Given the description of an element on the screen output the (x, y) to click on. 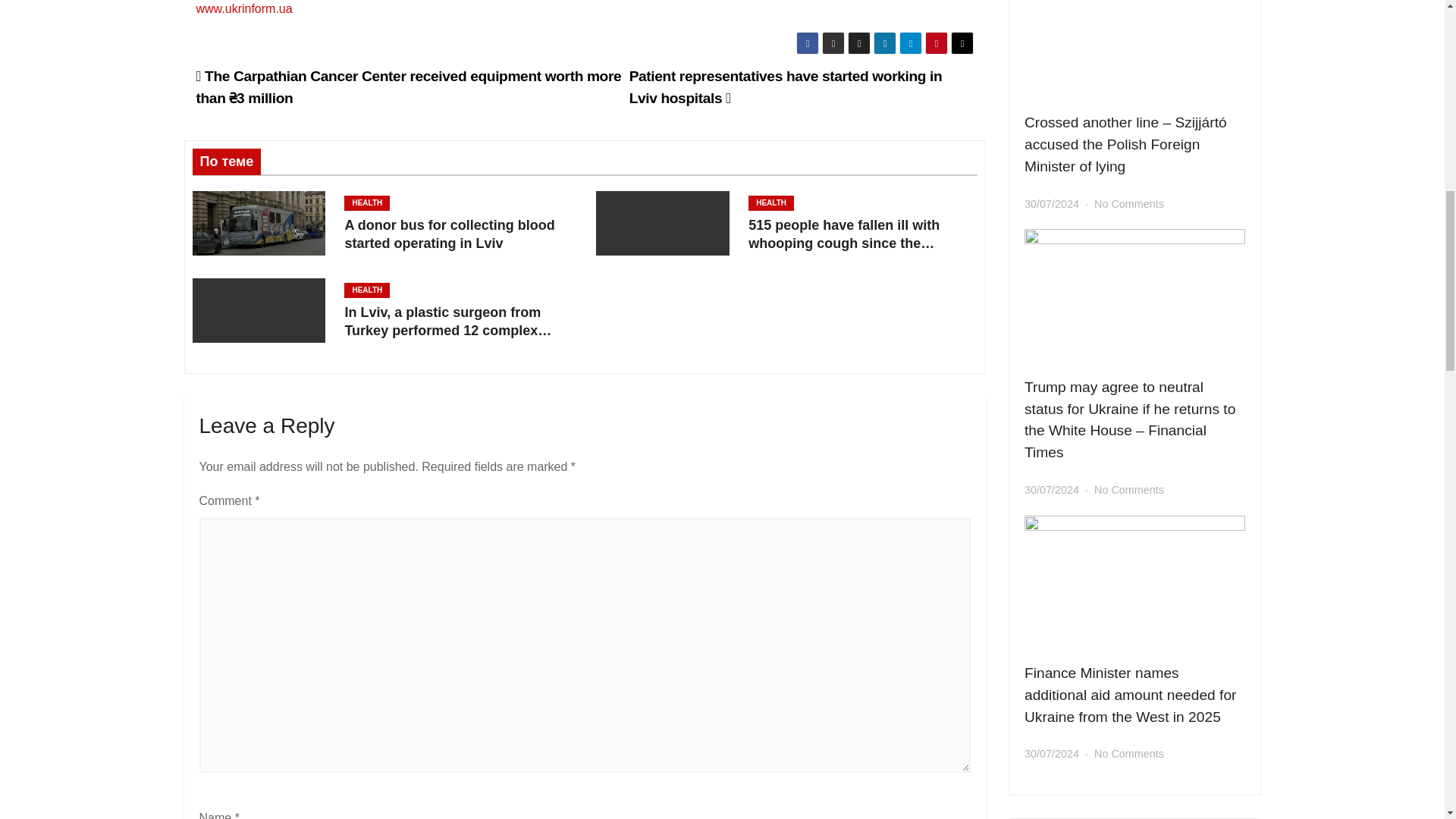
www.ukrinform.ua (243, 8)
